Given the description of an element on the screen output the (x, y) to click on. 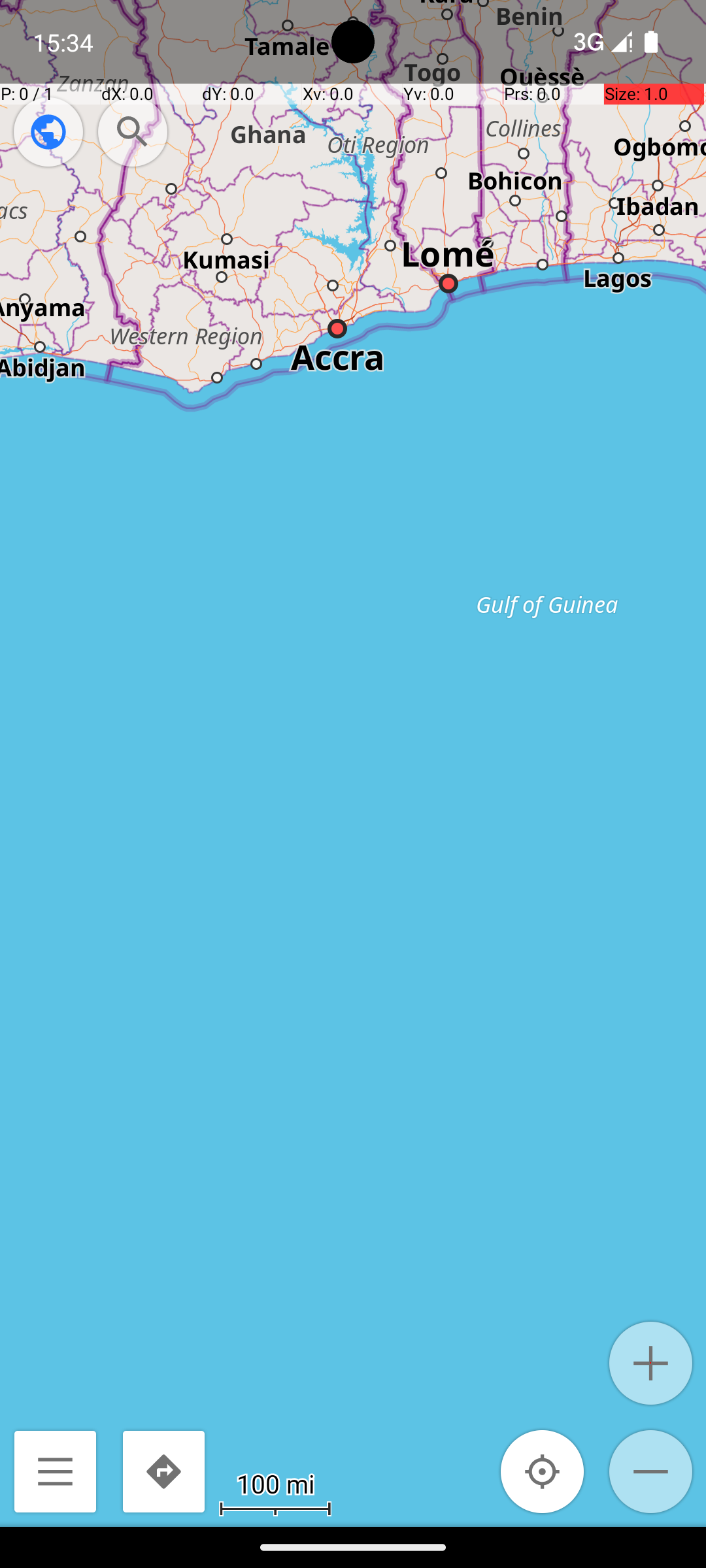
100 mi Element type: android.widget.TextView (274, 1483)
